Given the description of an element on the screen output the (x, y) to click on. 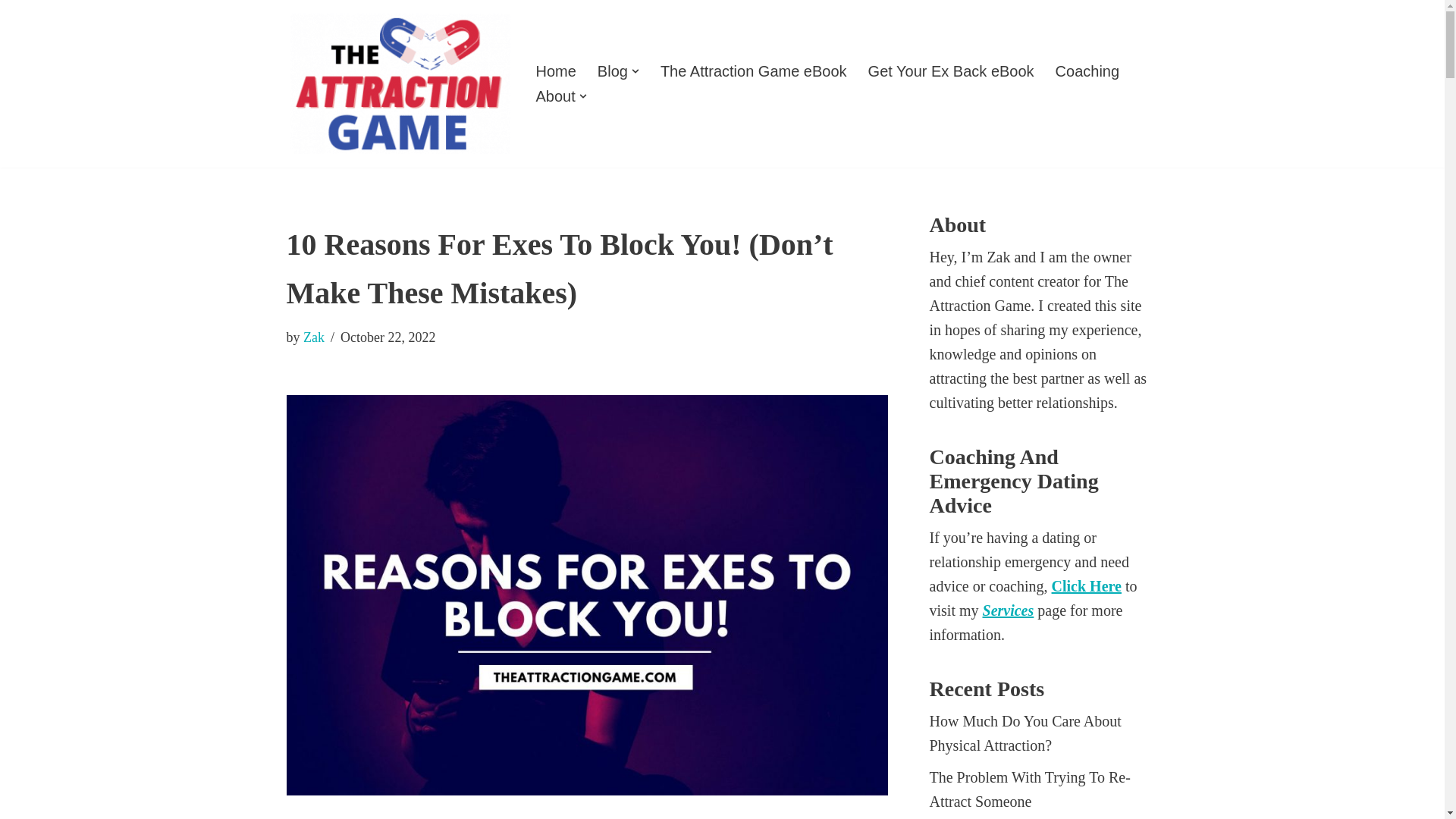
About (555, 95)
Blog (611, 70)
Skip to content (11, 31)
Zak (313, 337)
Get Your Ex Back eBook (950, 70)
Home (555, 70)
Coaching (1087, 70)
Posts by Zak (313, 337)
The Attraction Game eBook (754, 70)
